Given the description of an element on the screen output the (x, y) to click on. 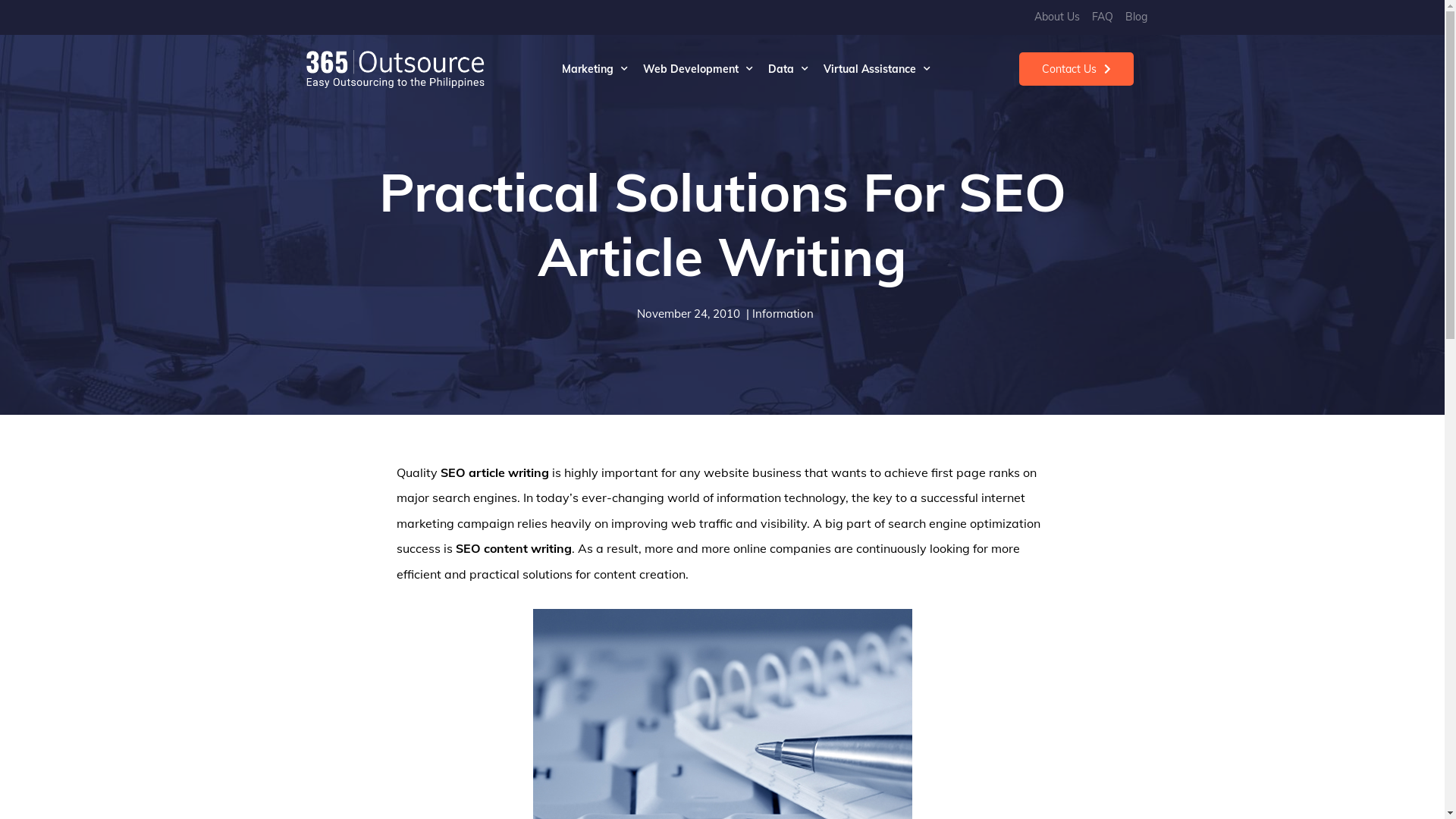
Web Development Element type: text (697, 68)
Information Element type: text (782, 313)
Contact Us Element type: text (1076, 68)
Data Element type: text (787, 68)
Virtual Assistance Element type: text (876, 68)
Marketing Element type: text (594, 68)
Blog Element type: text (1136, 17)
About Us Element type: text (1056, 17)
November 24, 2010 Element type: text (685, 313)
